Given the description of an element on the screen output the (x, y) to click on. 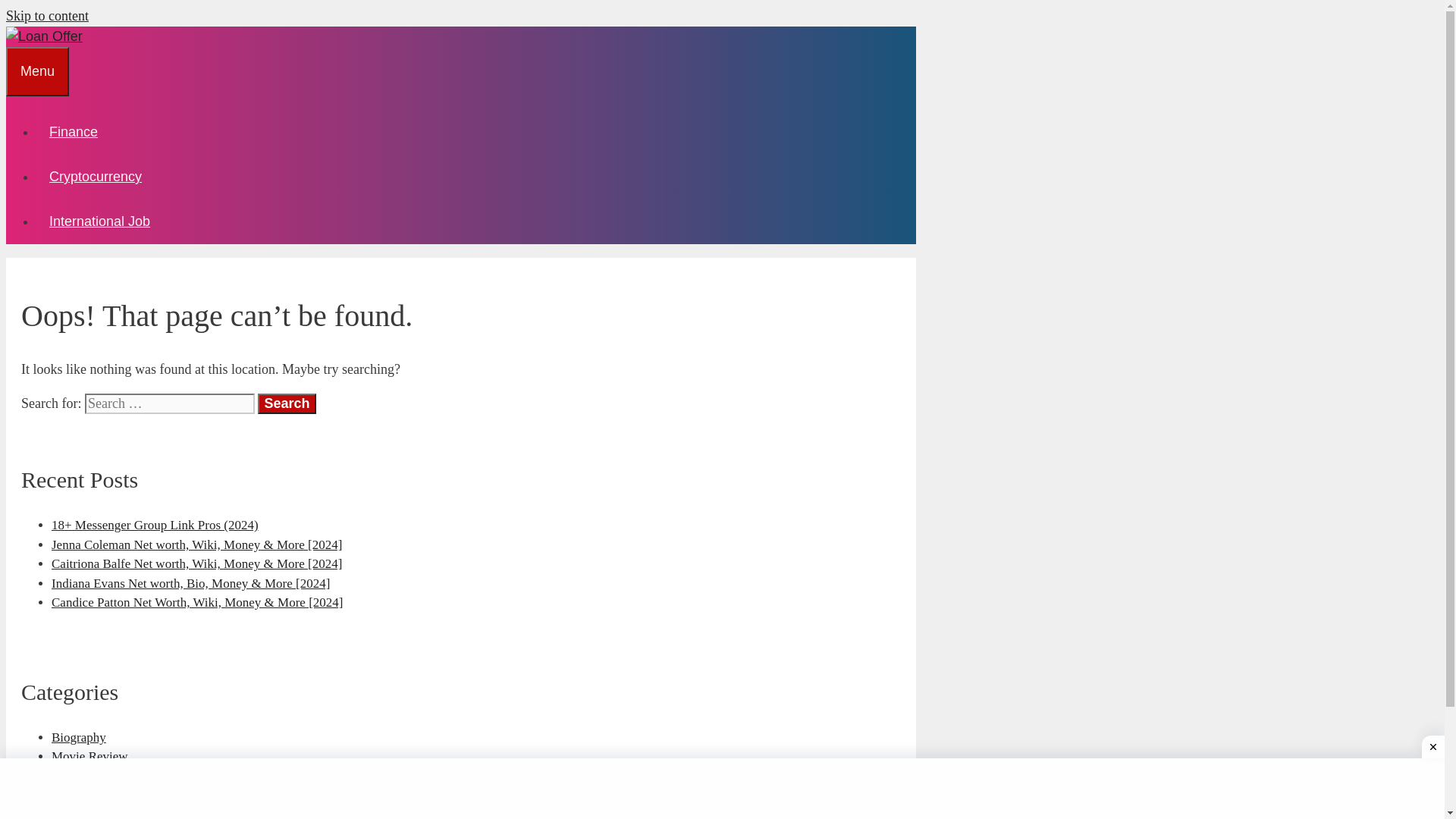
Finance Element type: text (73, 131)
Loan Offer  Element type: hover (44, 36)
Skip to content Element type: text (47, 15)
Biography Element type: text (78, 737)
Movie Review Element type: text (89, 756)
Jenna Coleman Net worth, Wiki, Money & More [2024] Element type: text (196, 544)
Caitriona Balfe Net worth, Wiki, Money & More [2024] Element type: text (196, 563)
Search for: Element type: hover (169, 403)
18+ Messenger Group Link Pros (2024) Element type: text (154, 524)
Networth Element type: text (75, 775)
International Job Element type: text (99, 221)
Indiana Evans Net worth, Bio, Money & More [2024] Element type: text (190, 583)
Loan Offer  Element type: hover (44, 35)
Candice Patton Net Worth, Wiki, Money & More [2024] Element type: text (196, 602)
Trending Element type: text (74, 794)
Menu Element type: text (37, 71)
Cryptocurrency Element type: text (95, 176)
Search Element type: text (286, 403)
